Given the description of an element on the screen output the (x, y) to click on. 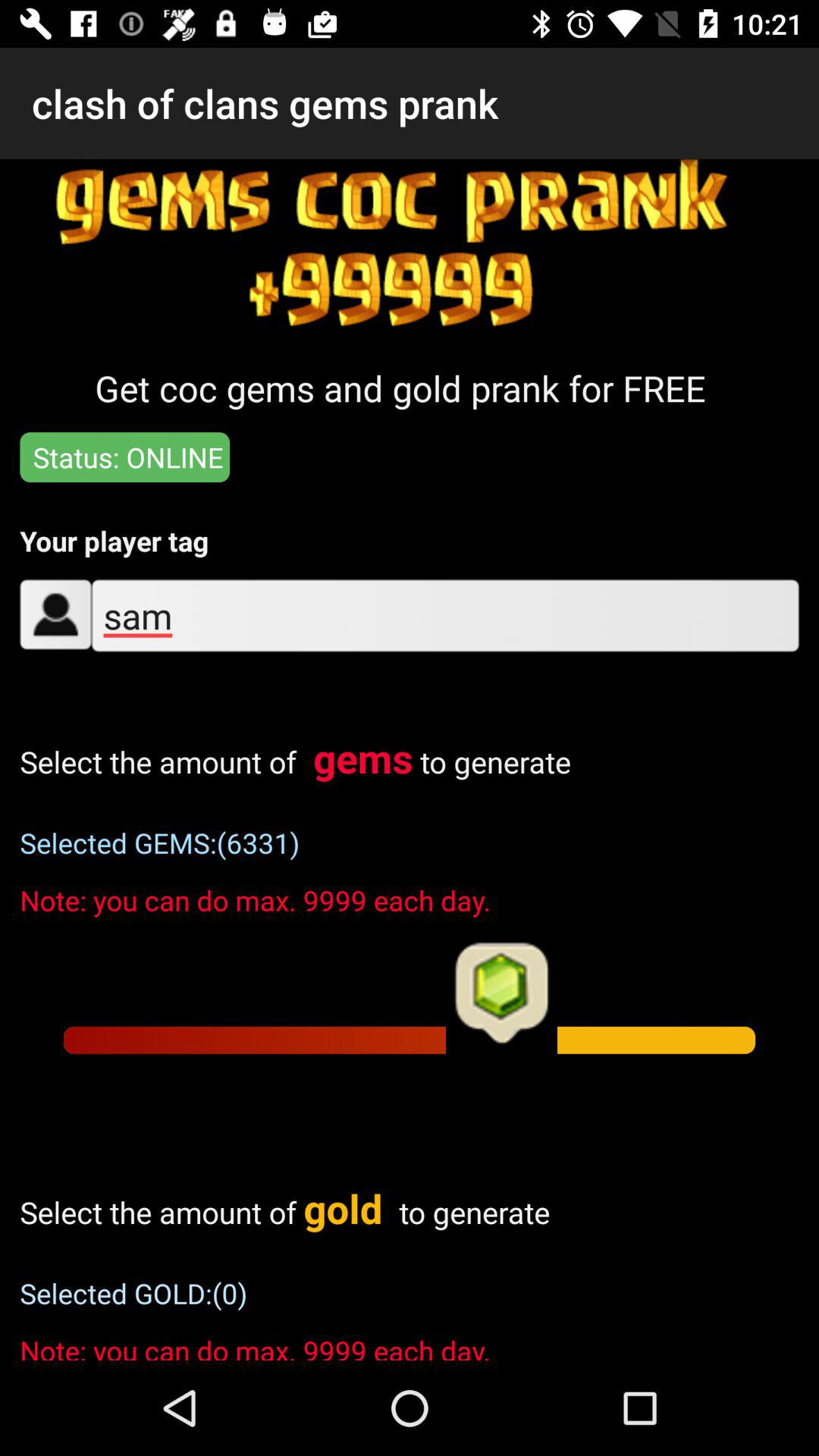
turn on icon above the  gems item (445, 615)
